Given the description of an element on the screen output the (x, y) to click on. 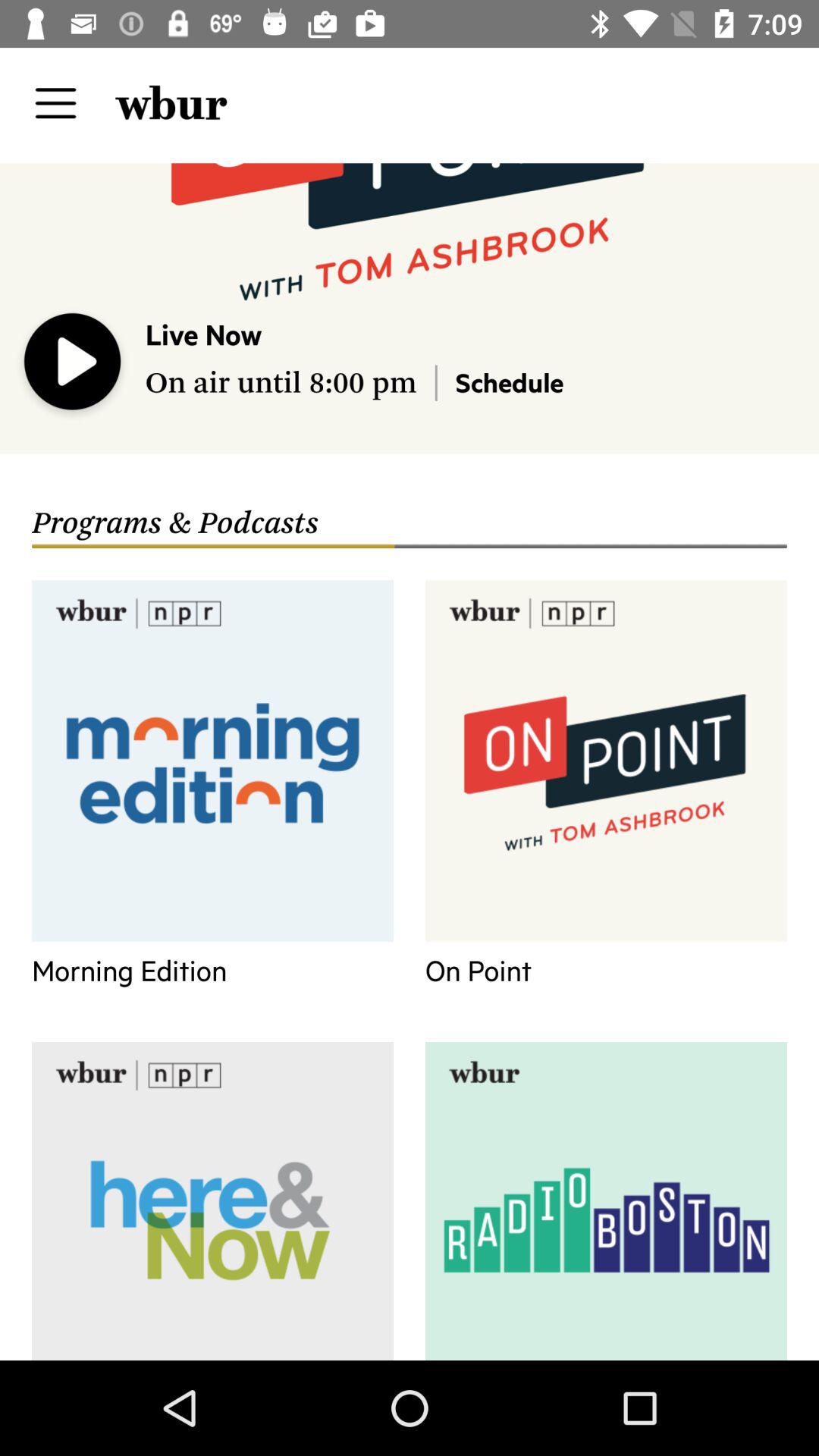
view menu (55, 103)
